Given the description of an element on the screen output the (x, y) to click on. 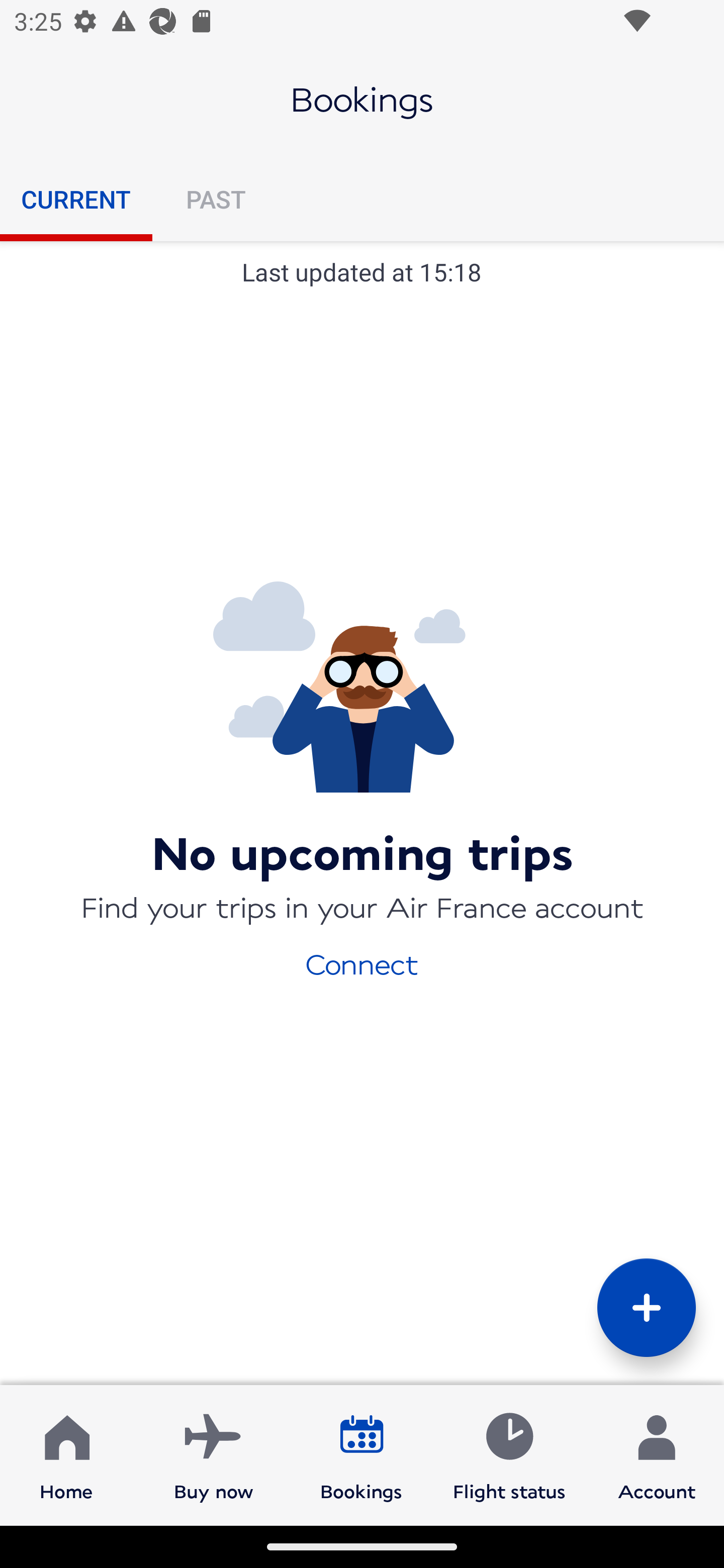
PAST (215, 198)
Connect (361, 963)
Home (66, 1454)
Buy now (213, 1454)
Flight status (509, 1454)
Account (657, 1454)
